Given the description of an element on the screen output the (x, y) to click on. 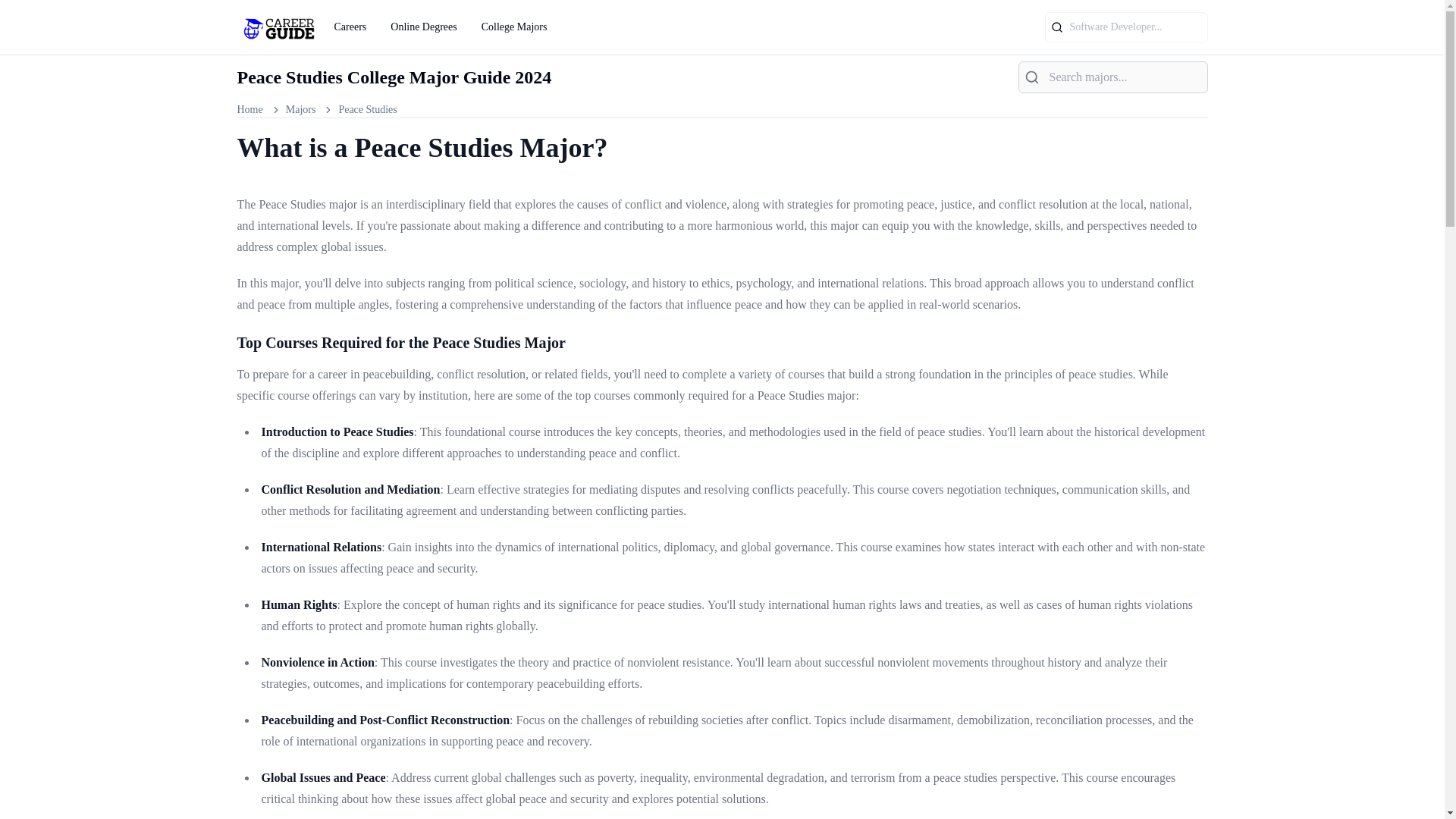
Careers (349, 27)
Online Degrees (423, 27)
Majors (300, 109)
Home (248, 109)
College Majors (514, 27)
Peace Studies (366, 109)
